Given the description of an element on the screen output the (x, y) to click on. 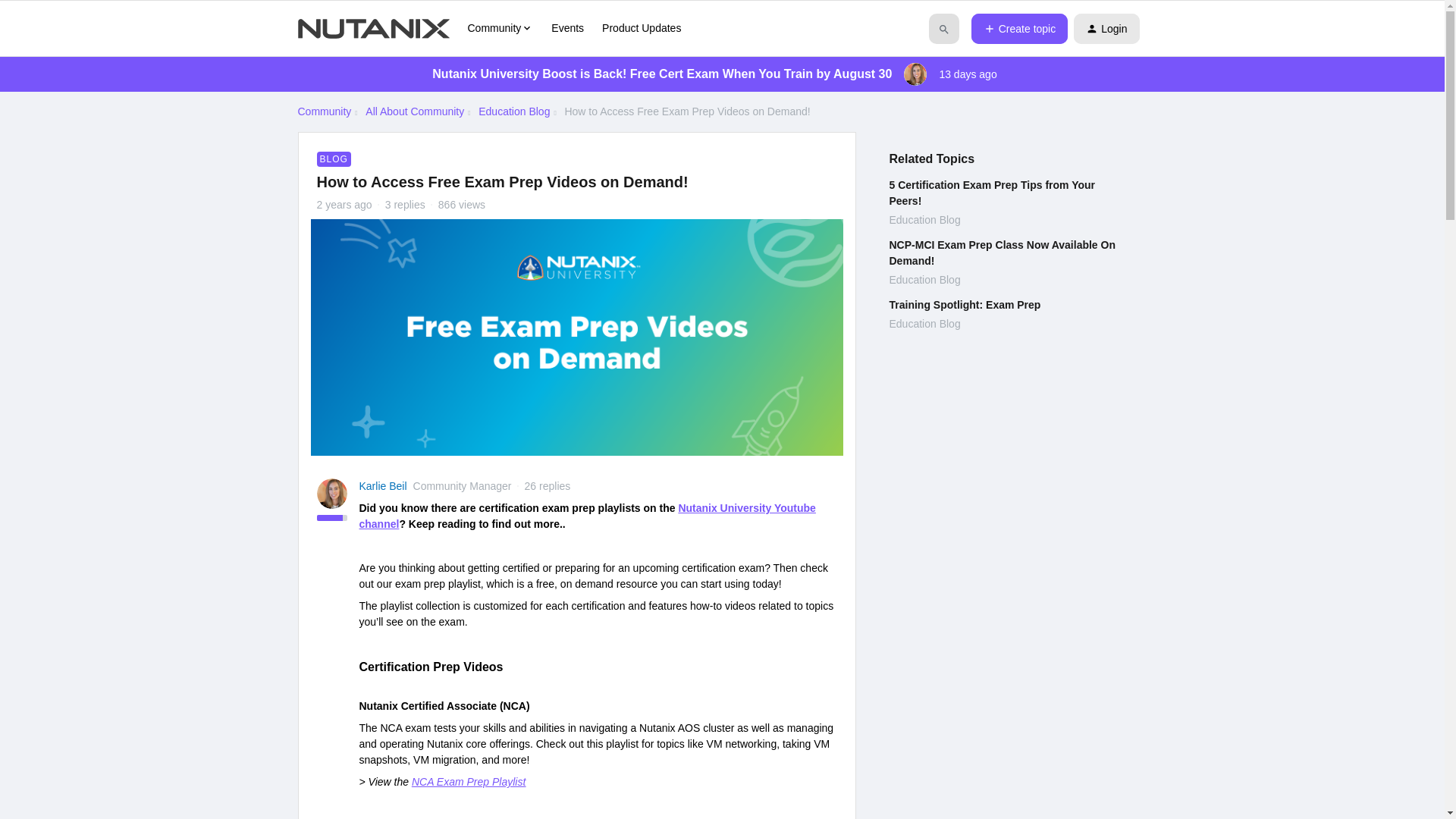
Community (499, 28)
